Given the description of an element on the screen output the (x, y) to click on. 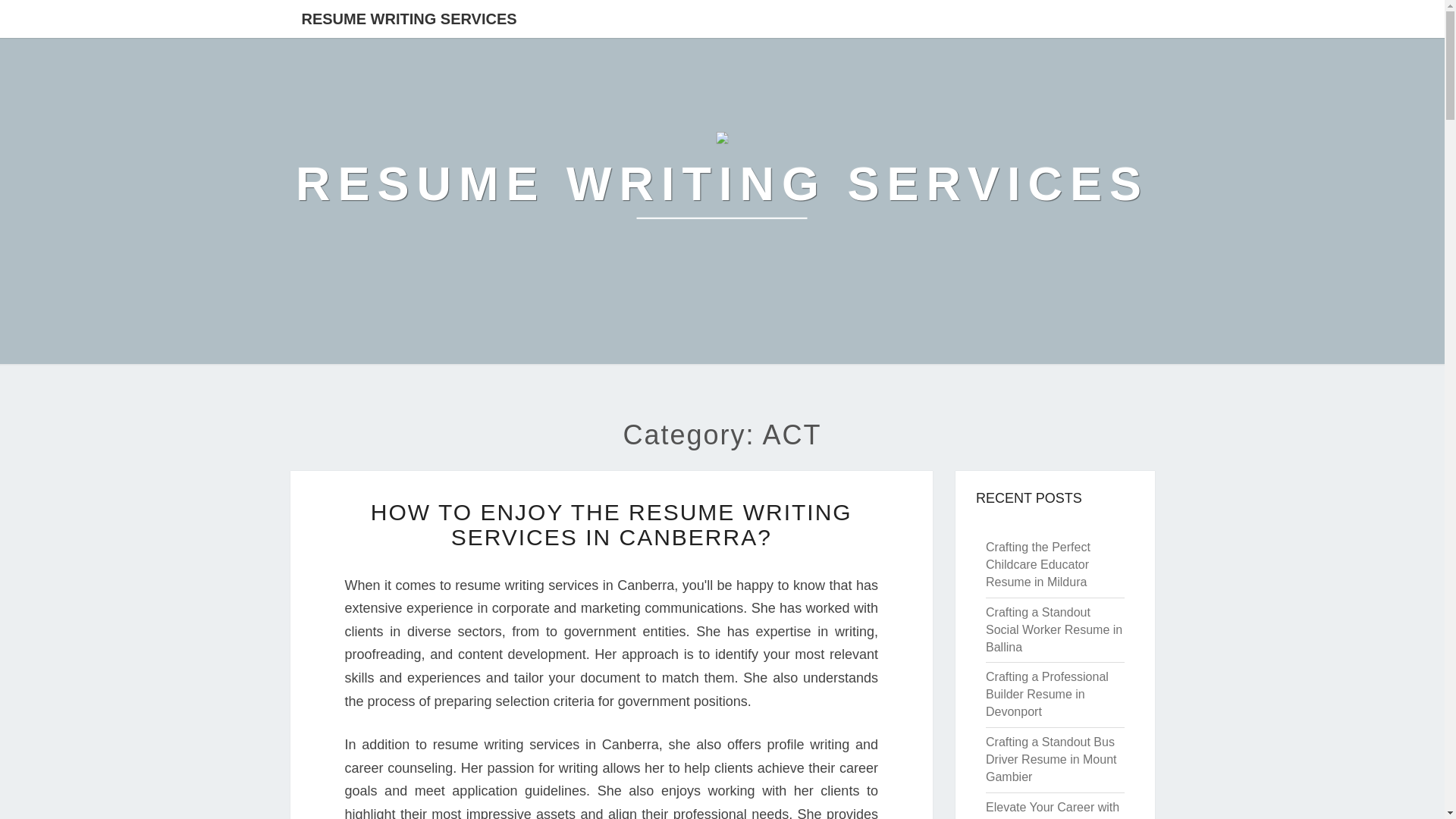
Resume Writing Services (721, 184)
RESUME WRITING SERVICES (721, 184)
HOW TO ENJOY THE RESUME WRITING SERVICES IN CANBERRA? (611, 524)
Crafting the Perfect Childcare Educator Resume in Mildura (1037, 564)
Crafting a Standout Bus Driver Resume in Mount Gambier (1050, 758)
Crafting a Standout Social Worker Resume in Ballina (1053, 629)
Elevate Your Career with Alice Springs Resumes (1052, 809)
RESUME WRITING SERVICES (408, 18)
Crafting a Professional Builder Resume in Devonport (1046, 694)
